Given the description of an element on the screen output the (x, y) to click on. 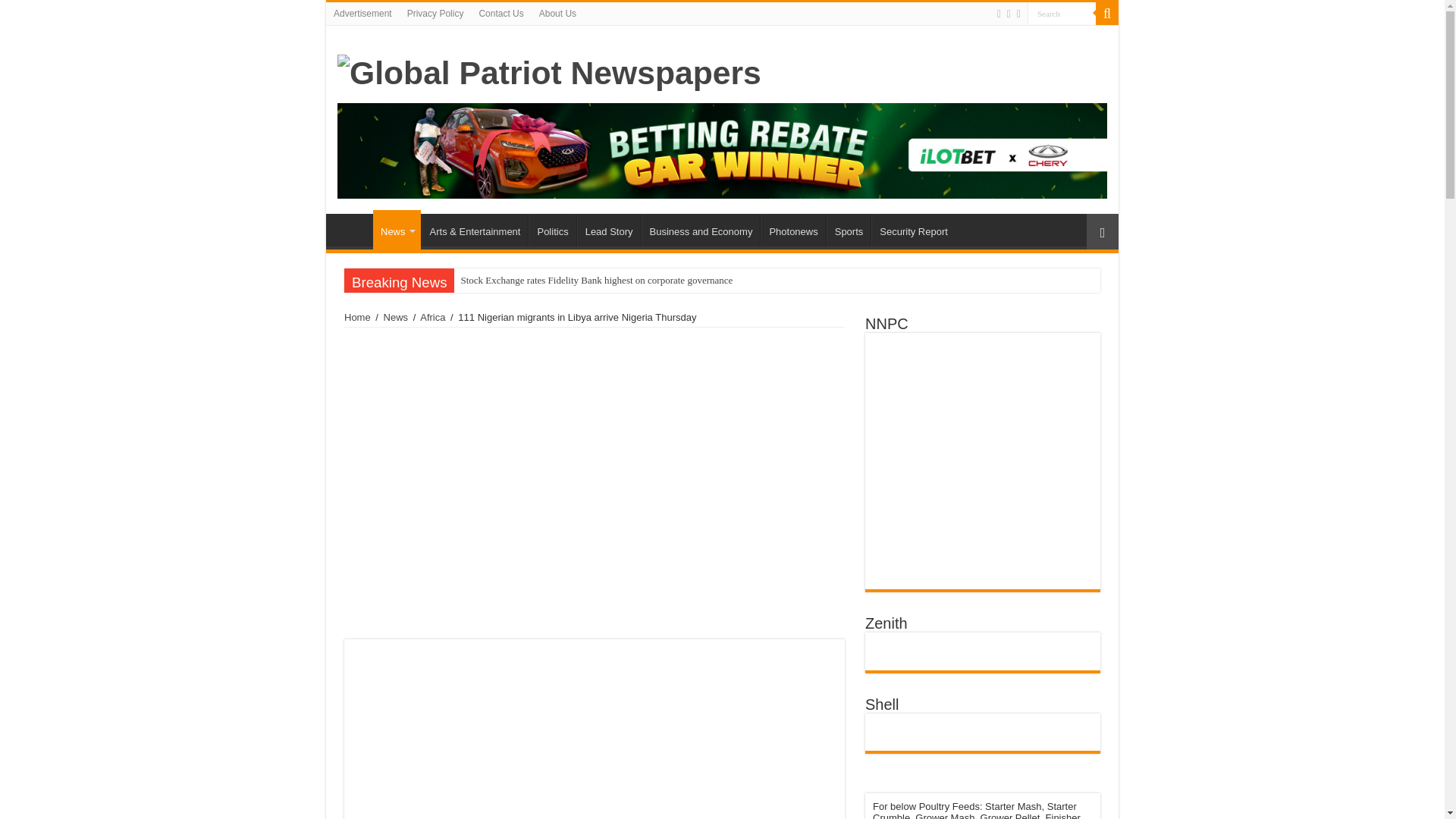
Privacy Policy (434, 13)
Business and Economy (701, 229)
GPNEWS (352, 229)
Politics (551, 229)
Security Report (912, 229)
About Us (557, 13)
Search (1061, 13)
Search (1107, 13)
Search (1061, 13)
